Given the description of an element on the screen output the (x, y) to click on. 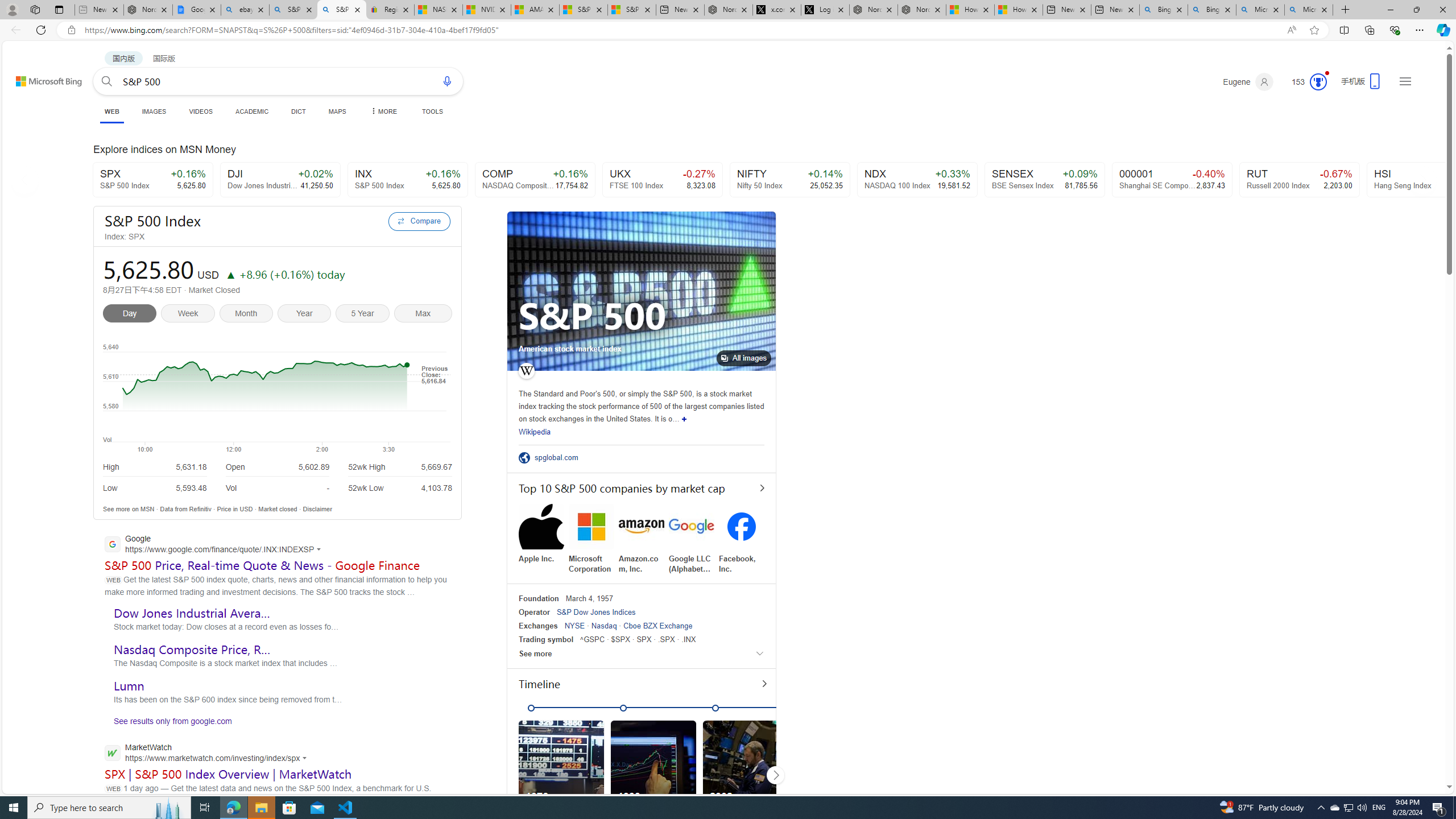
MORE (382, 111)
spglobal.com (559, 457)
S&P 500 Index (242, 221)
Log in to X / X (825, 9)
S&P 500 - Search (342, 9)
UKX-0.27%FTSE 100 Index8,323.08 (662, 179)
Class: sp-ofsite (523, 457)
IMAGES (153, 111)
Search using voice (446, 80)
Bing AI - Search (1211, 9)
Top 10 S&P 500 companies by market cap (641, 488)
WEB (111, 111)
Skip to content (35, 76)
Global web icon (111, 752)
